Given the description of an element on the screen output the (x, y) to click on. 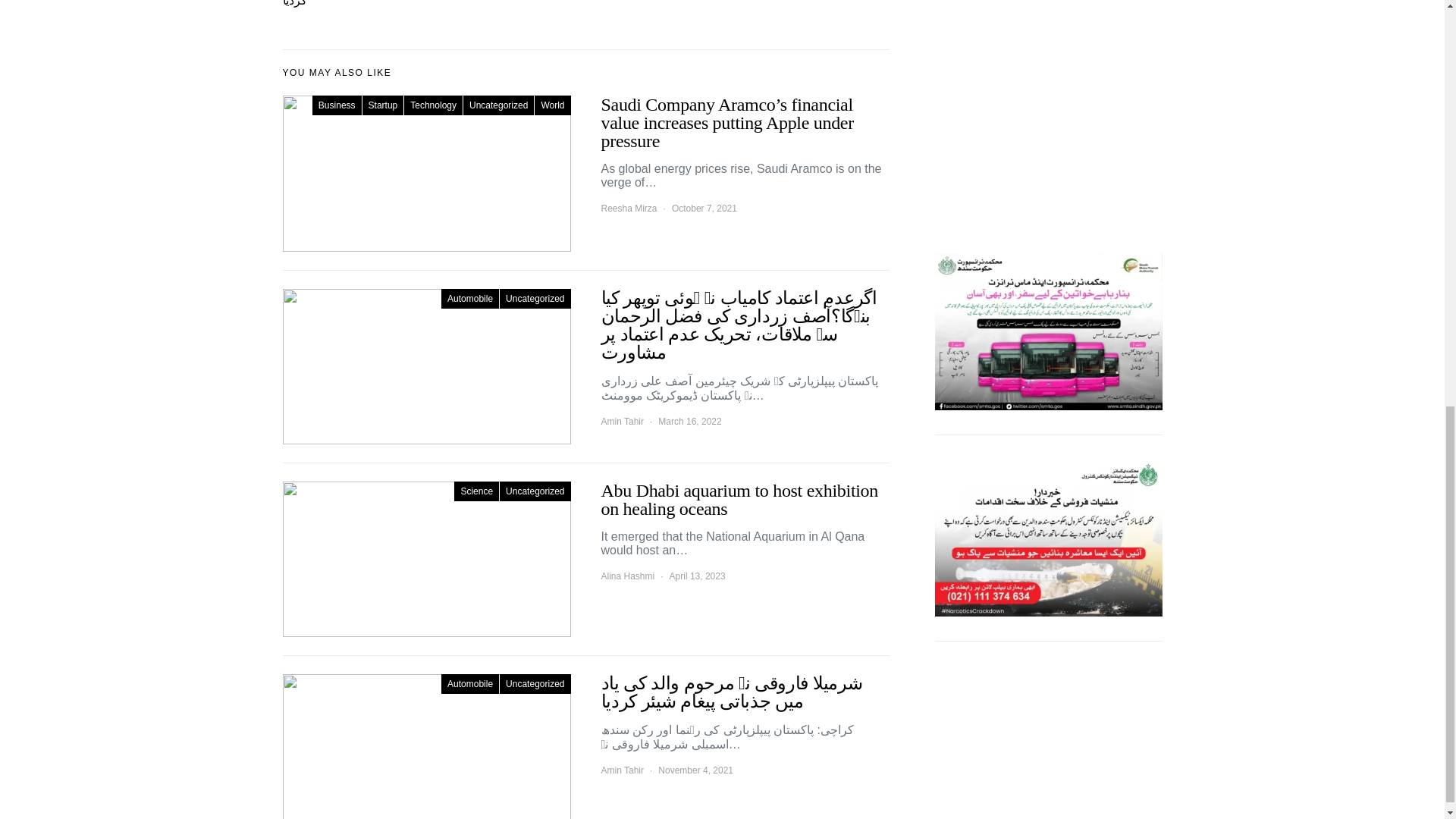
Anwar Maqsood (1047, 27)
View all posts by Amin Tahir (621, 421)
View all posts by Alina Hashmi (626, 576)
View all posts by Reesha Mirza (627, 208)
View all posts by Amin Tahir (621, 770)
